Given the description of an element on the screen output the (x, y) to click on. 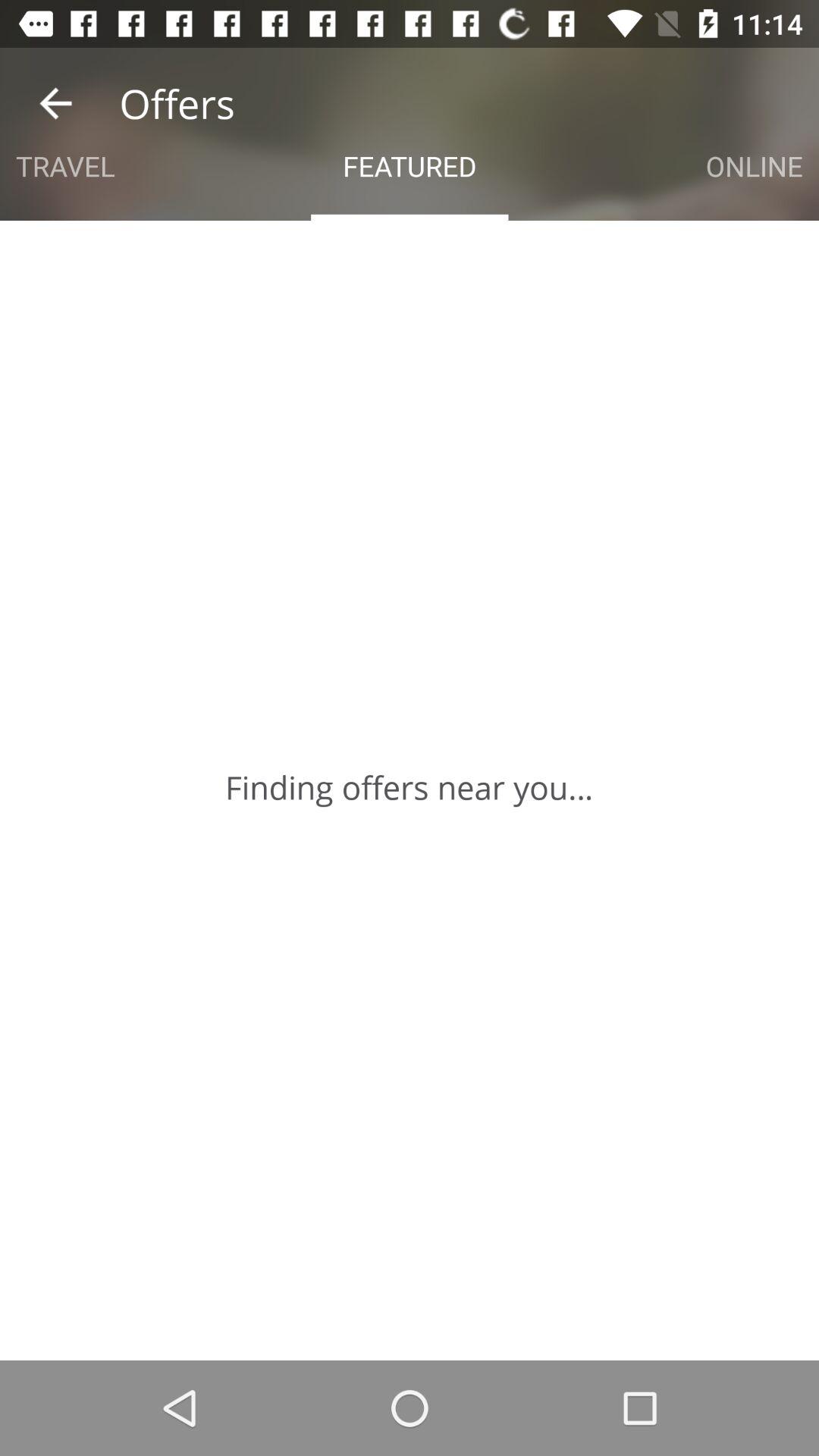
scroll to the travel item (64, 165)
